Given the description of an element on the screen output the (x, y) to click on. 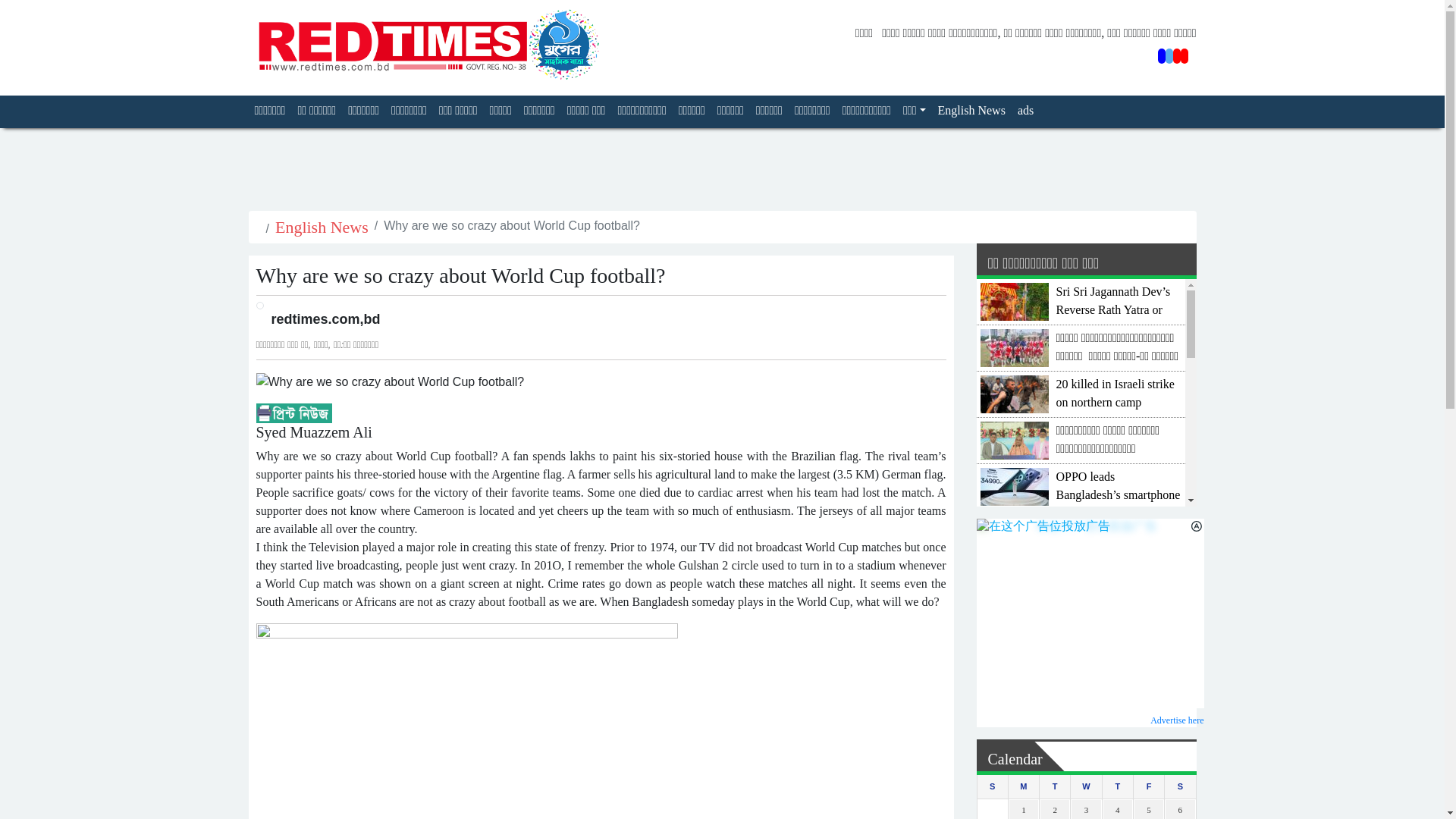
Tuesday (1054, 786)
English News (971, 111)
Sunday (991, 786)
Friday (1147, 786)
Wednesday (1086, 786)
English News (321, 226)
Thursday (1117, 786)
Monday (1023, 786)
Saturday (1179, 786)
